Given the description of an element on the screen output the (x, y) to click on. 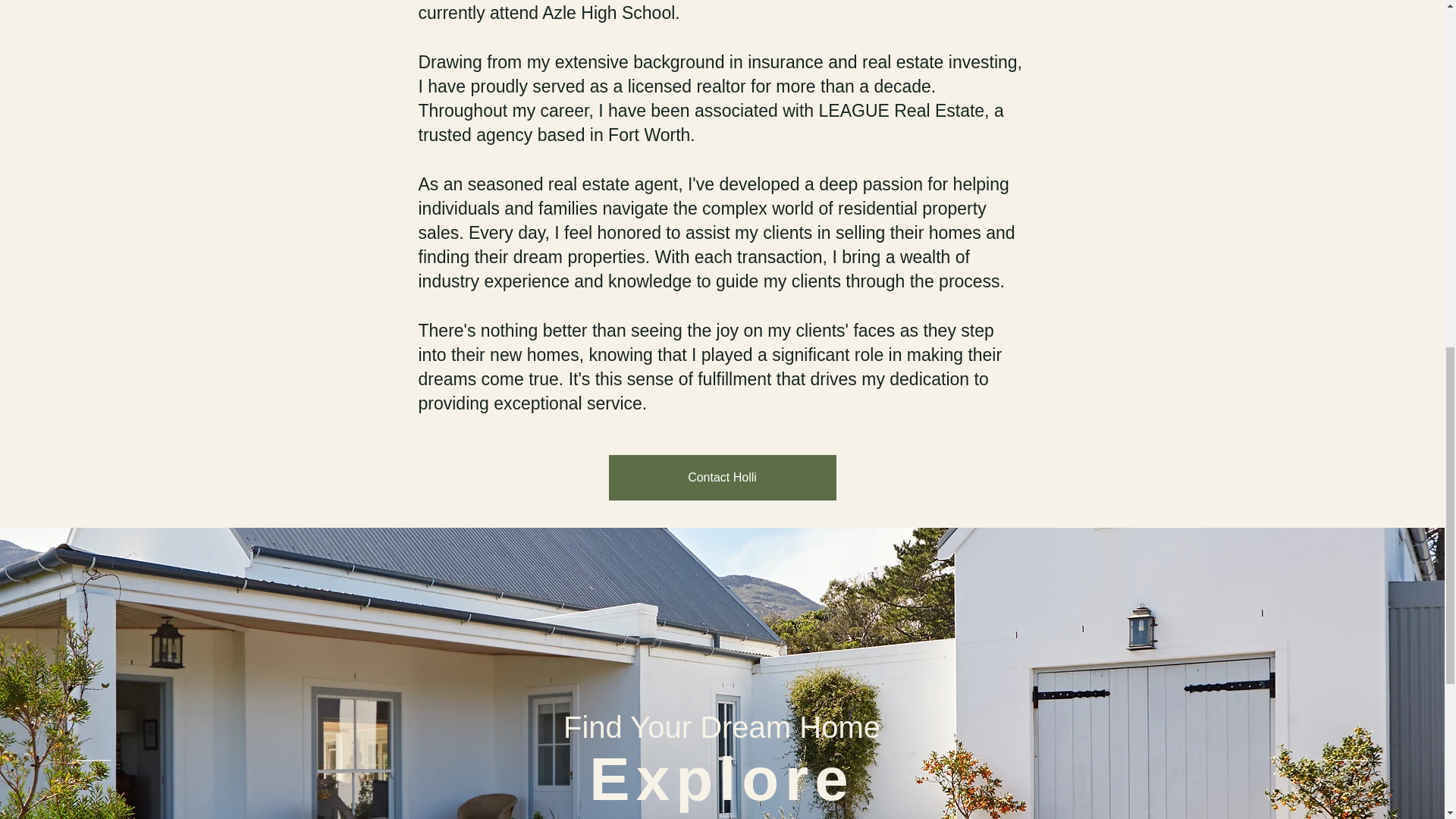
Contact Holli (721, 477)
